Given the description of an element on the screen output the (x, y) to click on. 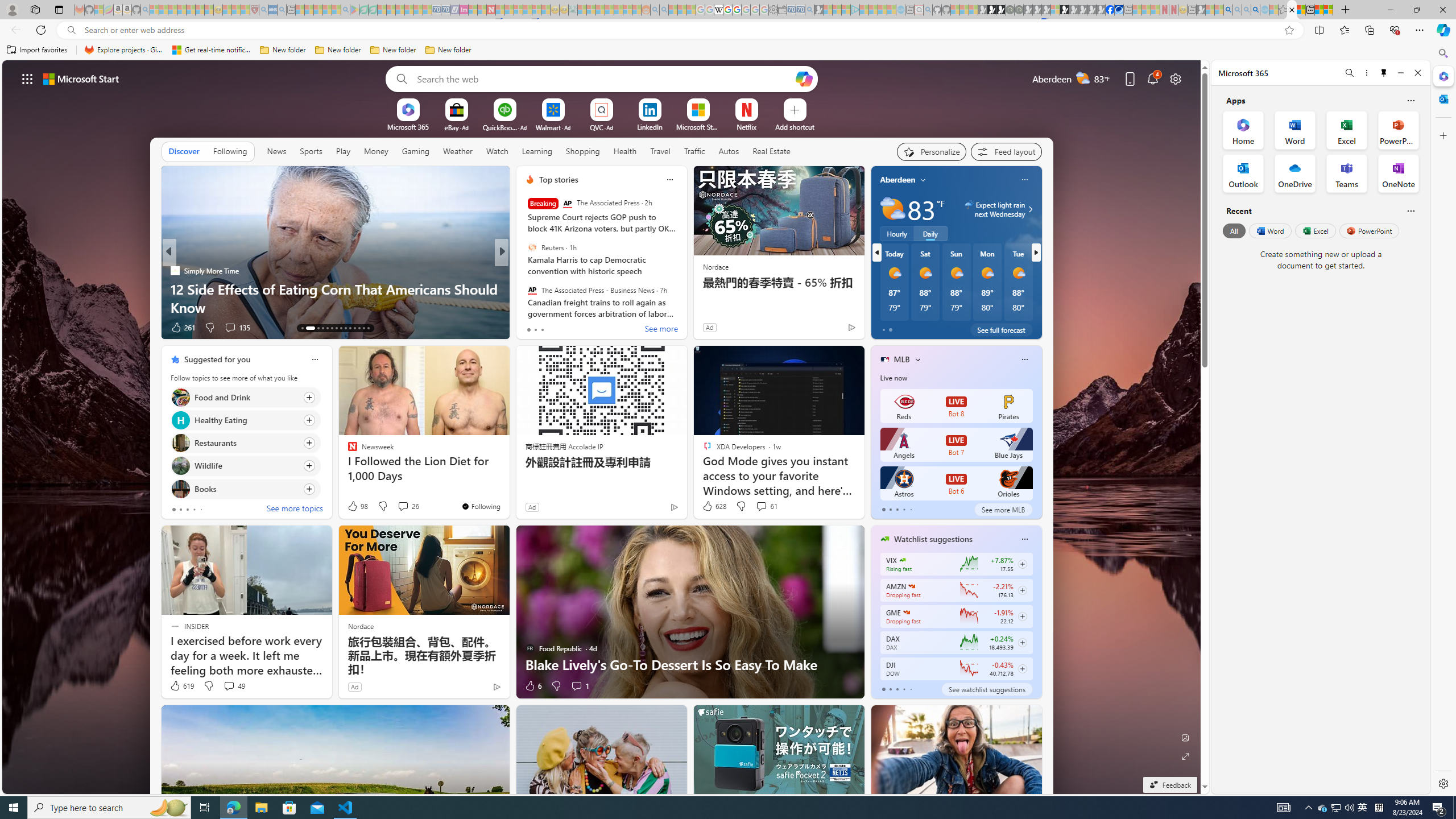
How to clear the cache on your iPhone (and why you should) (684, 298)
AutomationID: tab-26 (368, 328)
View comments 26 Comment (403, 505)
LinkedIn (649, 126)
View comments 6 Comment (580, 327)
Learning (536, 151)
Is this helpful? (1410, 210)
Excel Office App (1346, 129)
View comments 84 Comment (585, 327)
Sign in to your account - Sleeping (1054, 9)
Jobs - lastminute.com Investor Portal - Sleeping (463, 9)
See full forecast (1000, 329)
